Given the description of an element on the screen output the (x, y) to click on. 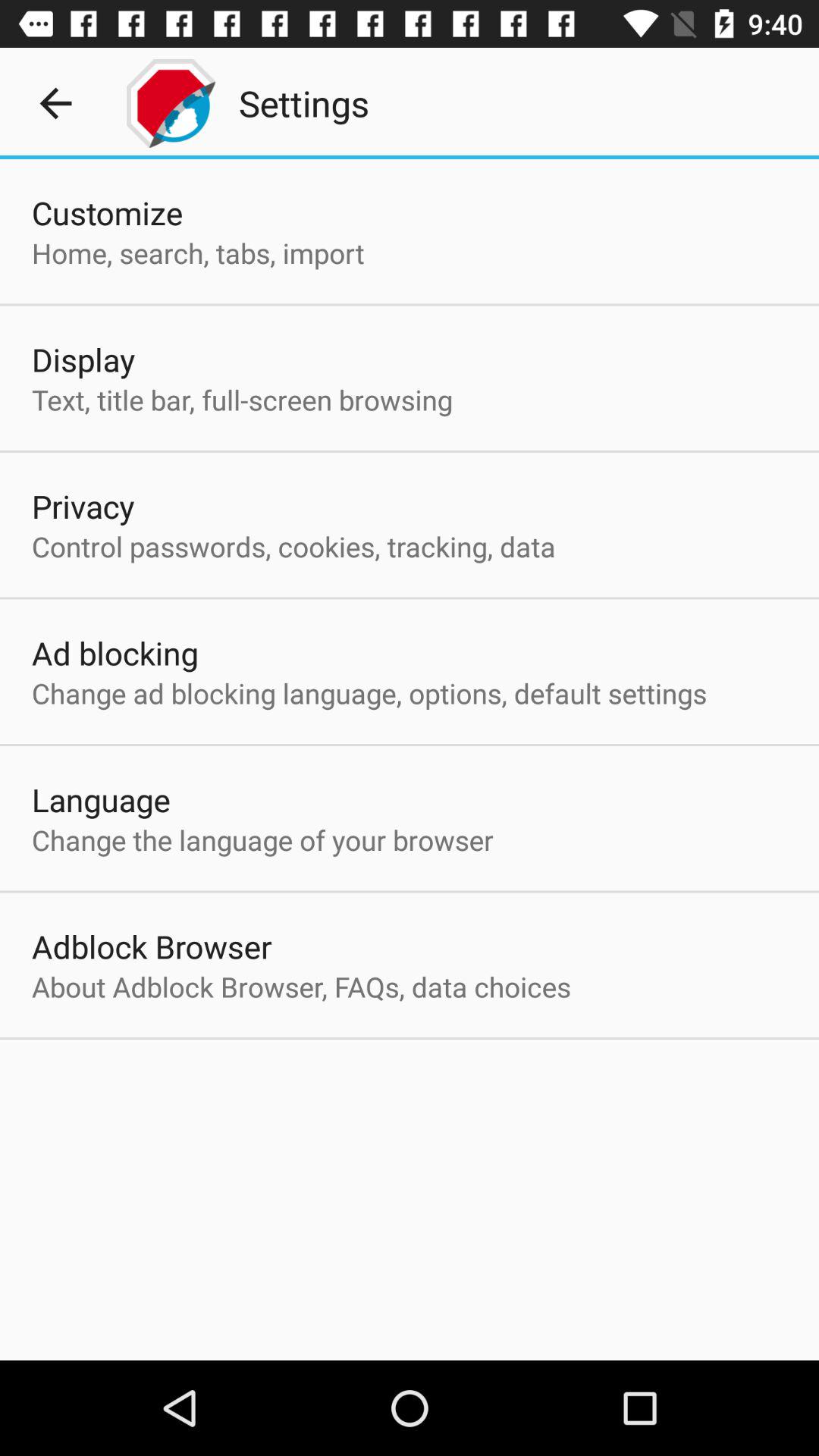
swipe to the display app (83, 359)
